Given the description of an element on the screen output the (x, y) to click on. 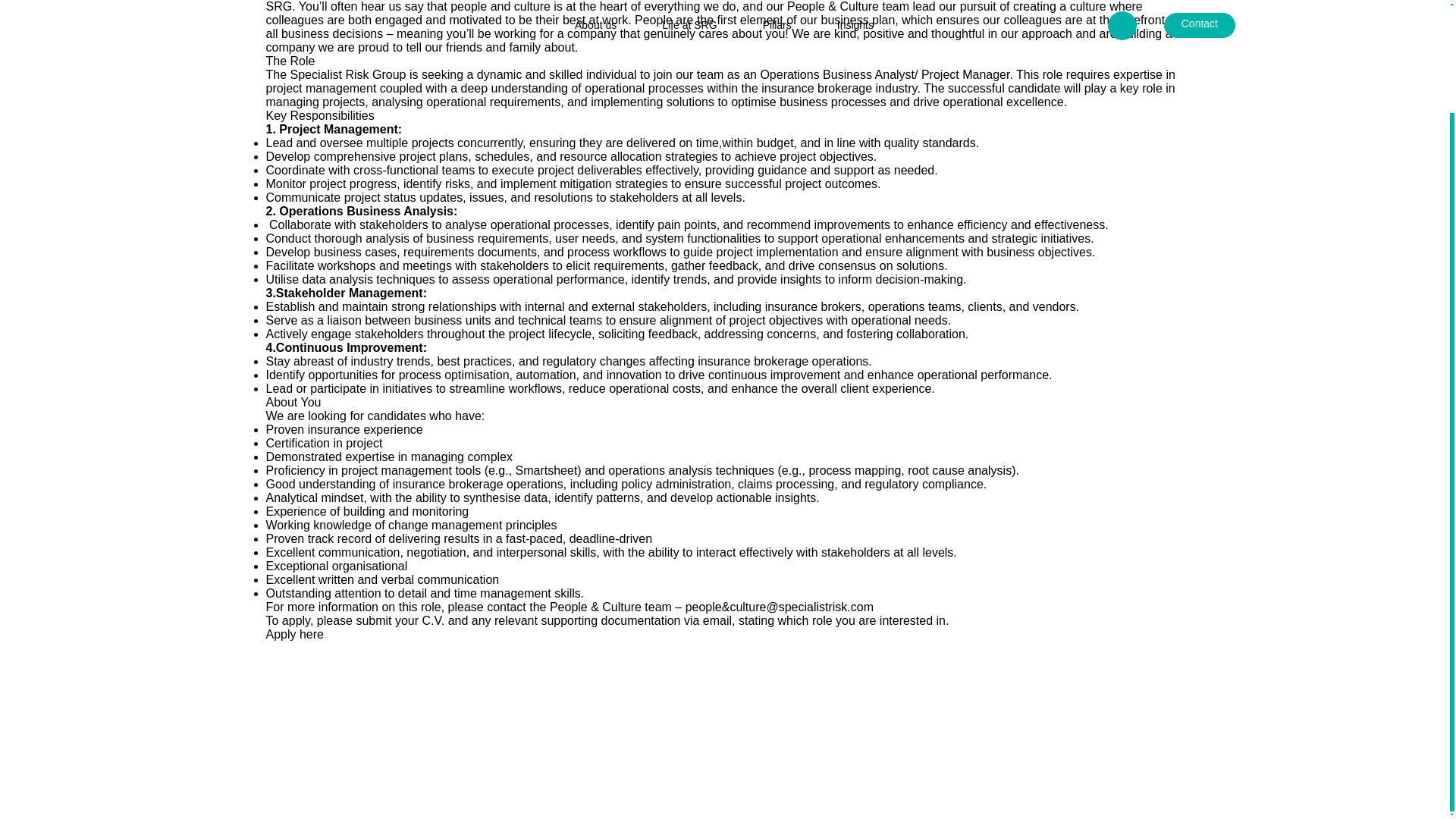
Apply here (293, 634)
